Given the description of an element on the screen output the (x, y) to click on. 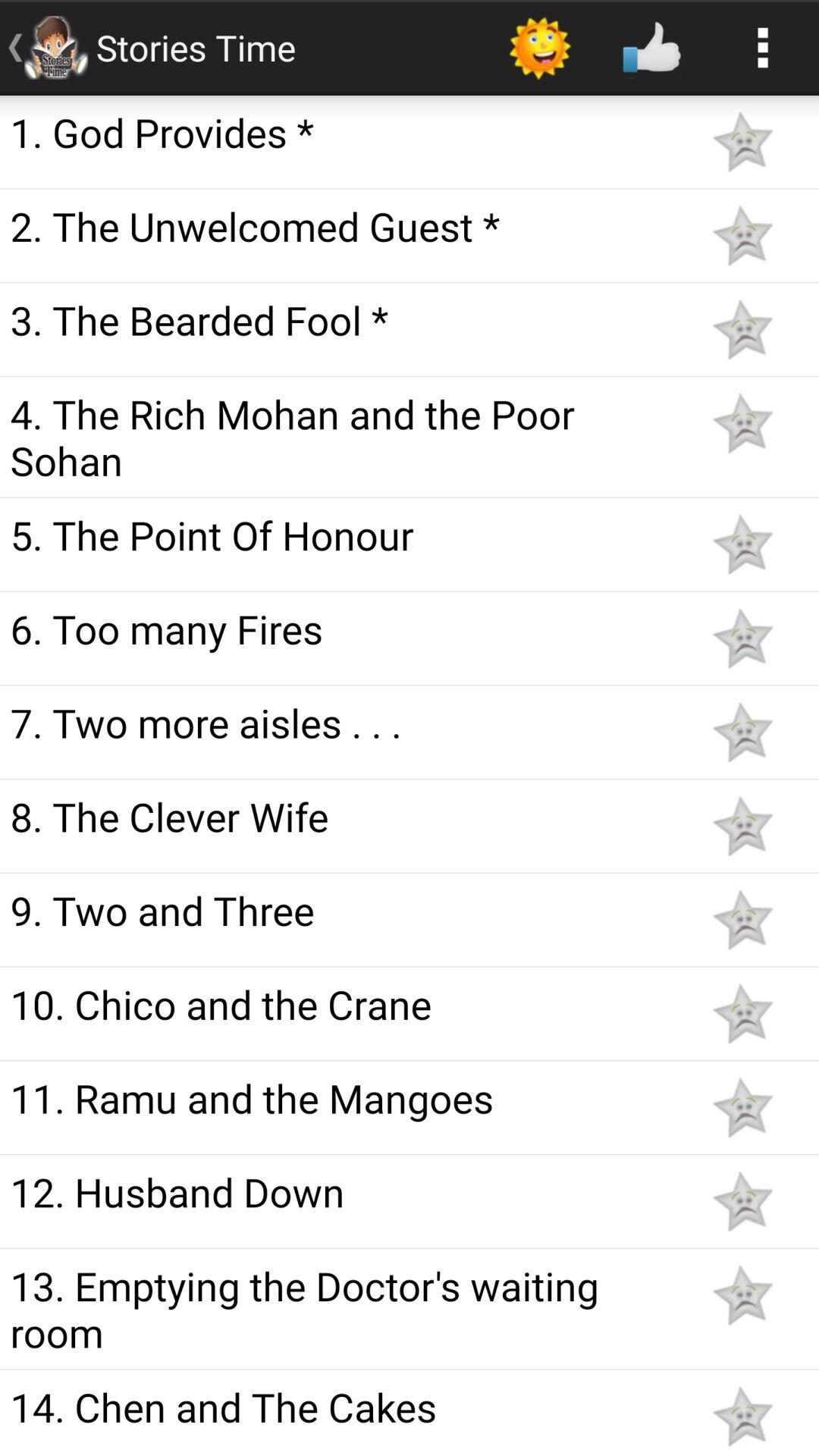
rate (742, 1107)
